Given the description of an element on the screen output the (x, y) to click on. 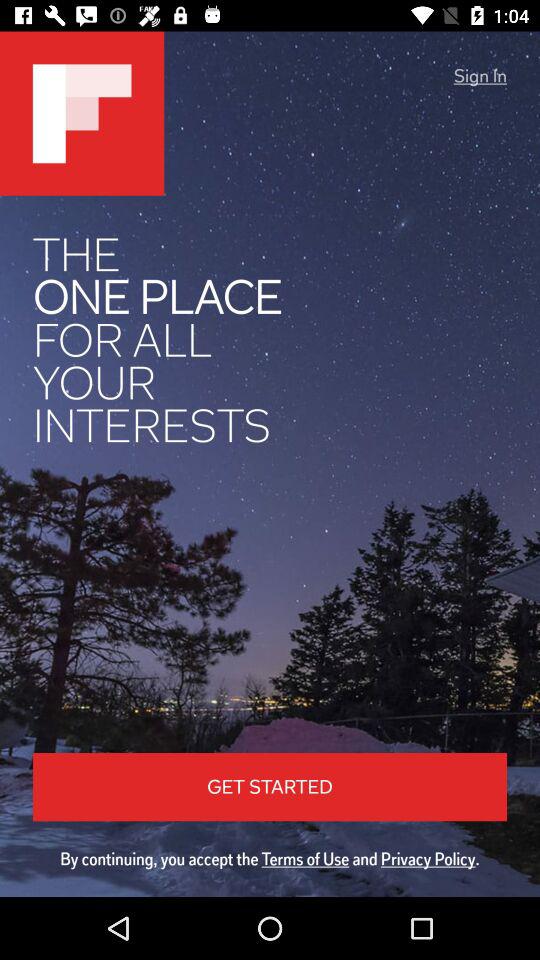
select icon above the by continuing you (480, 75)
